Given the description of an element on the screen output the (x, y) to click on. 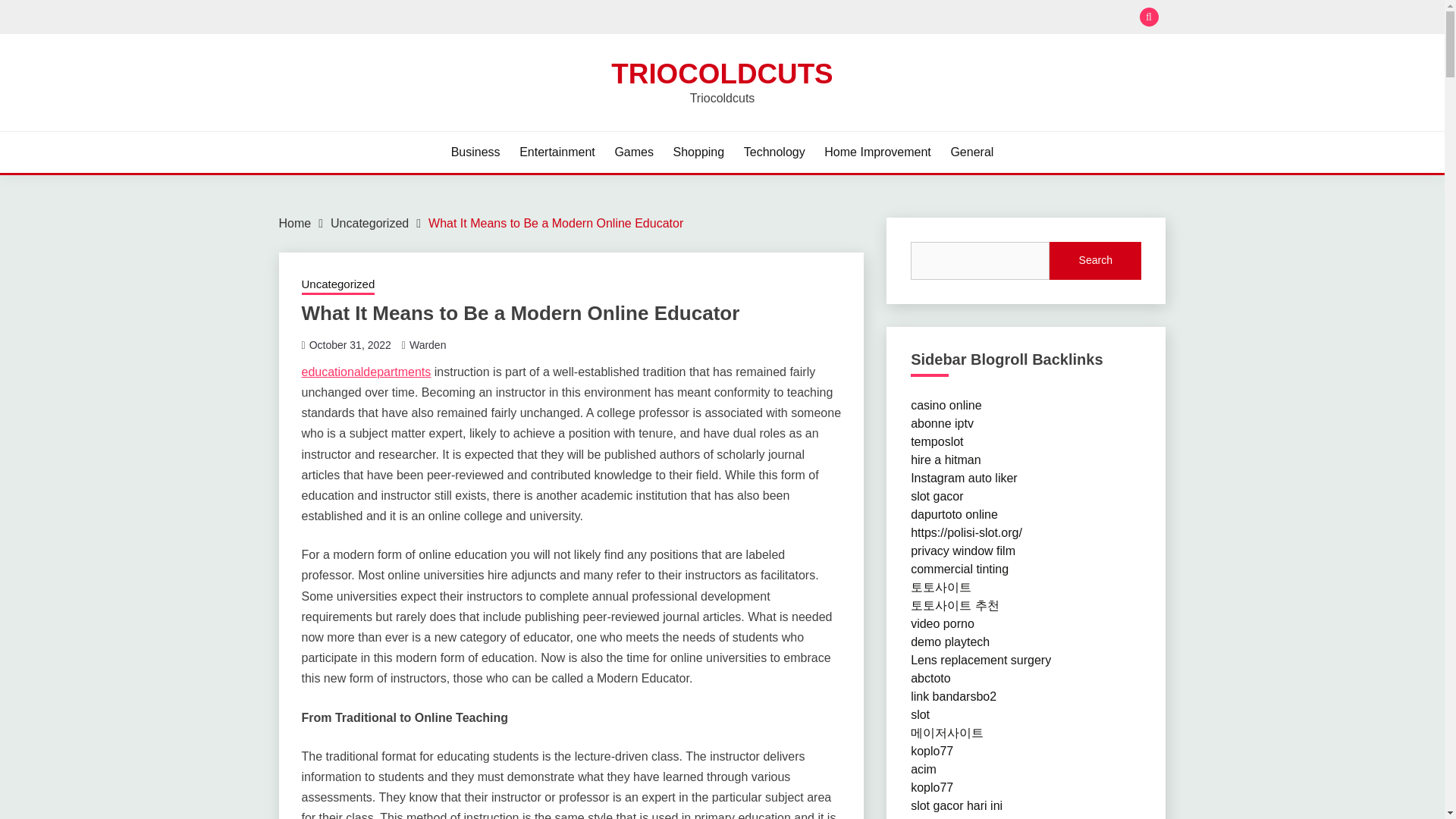
Home (295, 223)
Warden (427, 345)
October 31, 2022 (349, 345)
Uncategorized (338, 285)
Home Improvement (877, 152)
temposlot (936, 440)
Shopping (698, 152)
Search (832, 18)
casino online (946, 404)
Business (475, 152)
